Given the description of an element on the screen output the (x, y) to click on. 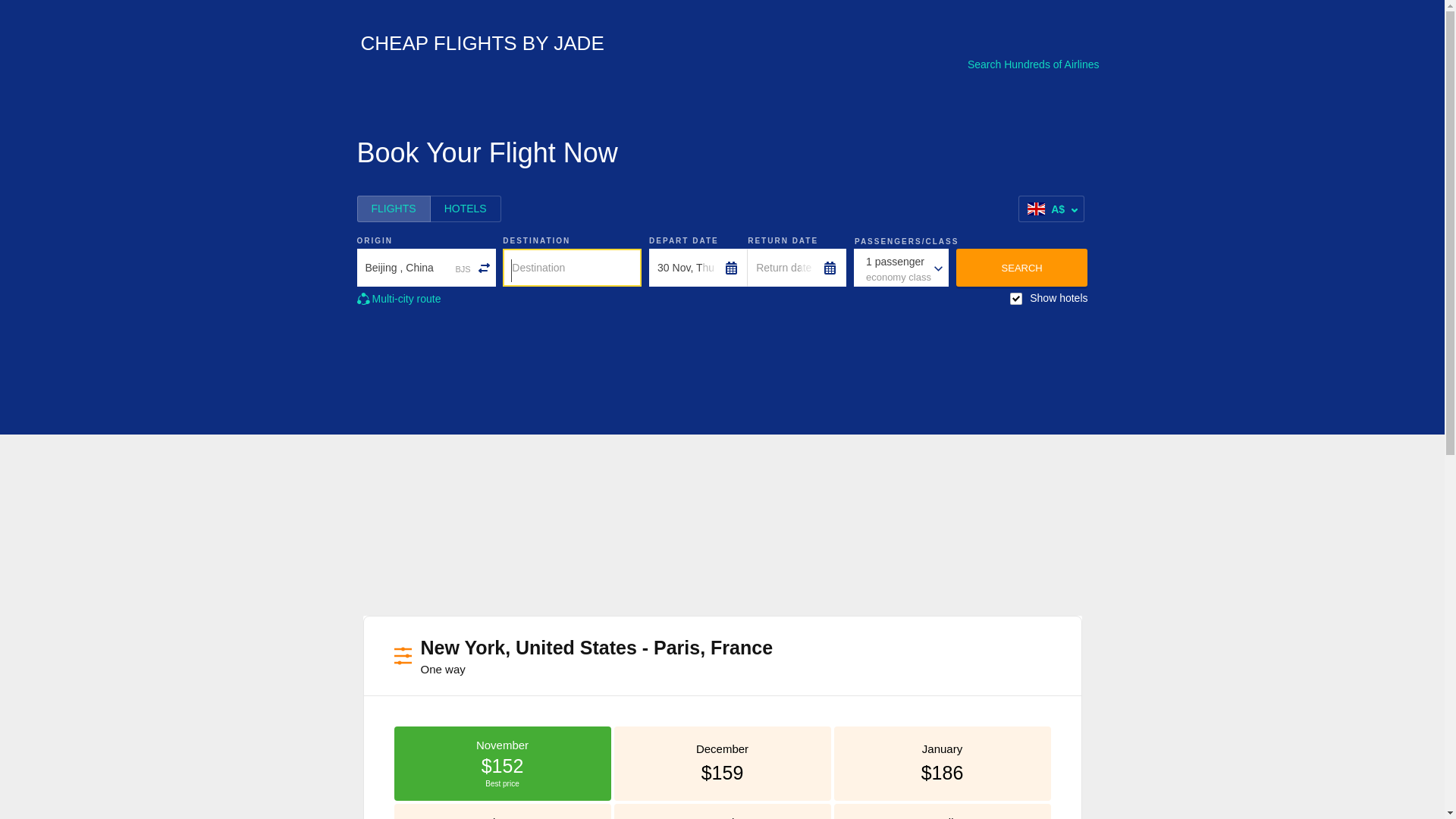
CHEAP FLIGHTS BY JADE Element type: text (474, 46)
Advertisement Element type: hover (721, 524)
SEARCH Element type: text (1022, 267)
